Given the description of an element on the screen output the (x, y) to click on. 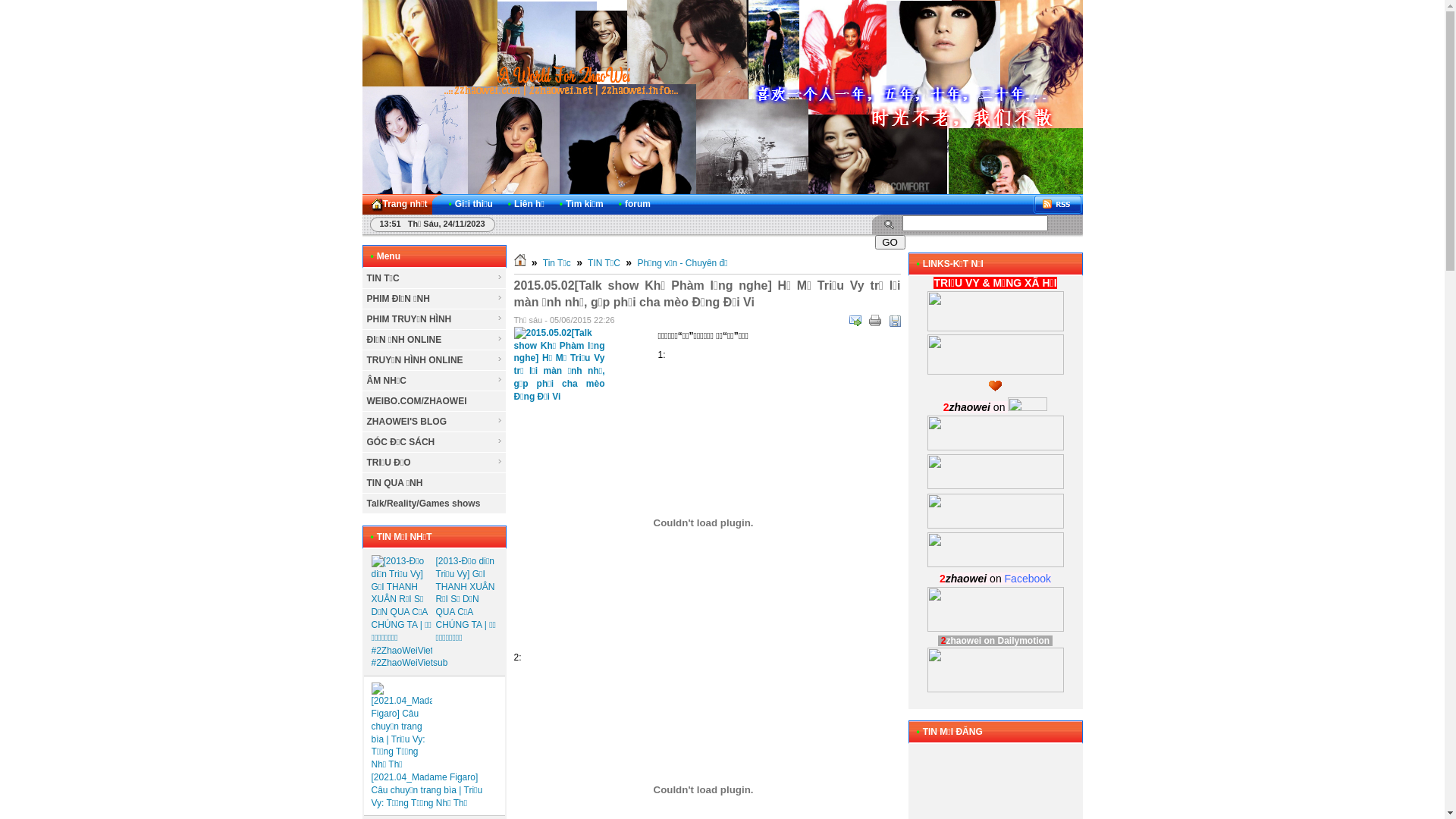
  Element type: text (1057, 204)
Go Element type: text (890, 242)
ZHAOWEI'S BLOG Element type: text (434, 421)
WEIBO.COM/ZHAOWEI Element type: text (434, 401)
RSS Element type: hover (1057, 204)
In ra Element type: hover (875, 320)
Talk/Reality/Games shows Element type: text (434, 503)
heart Element type: hover (994, 385)
